Given the description of an element on the screen output the (x, y) to click on. 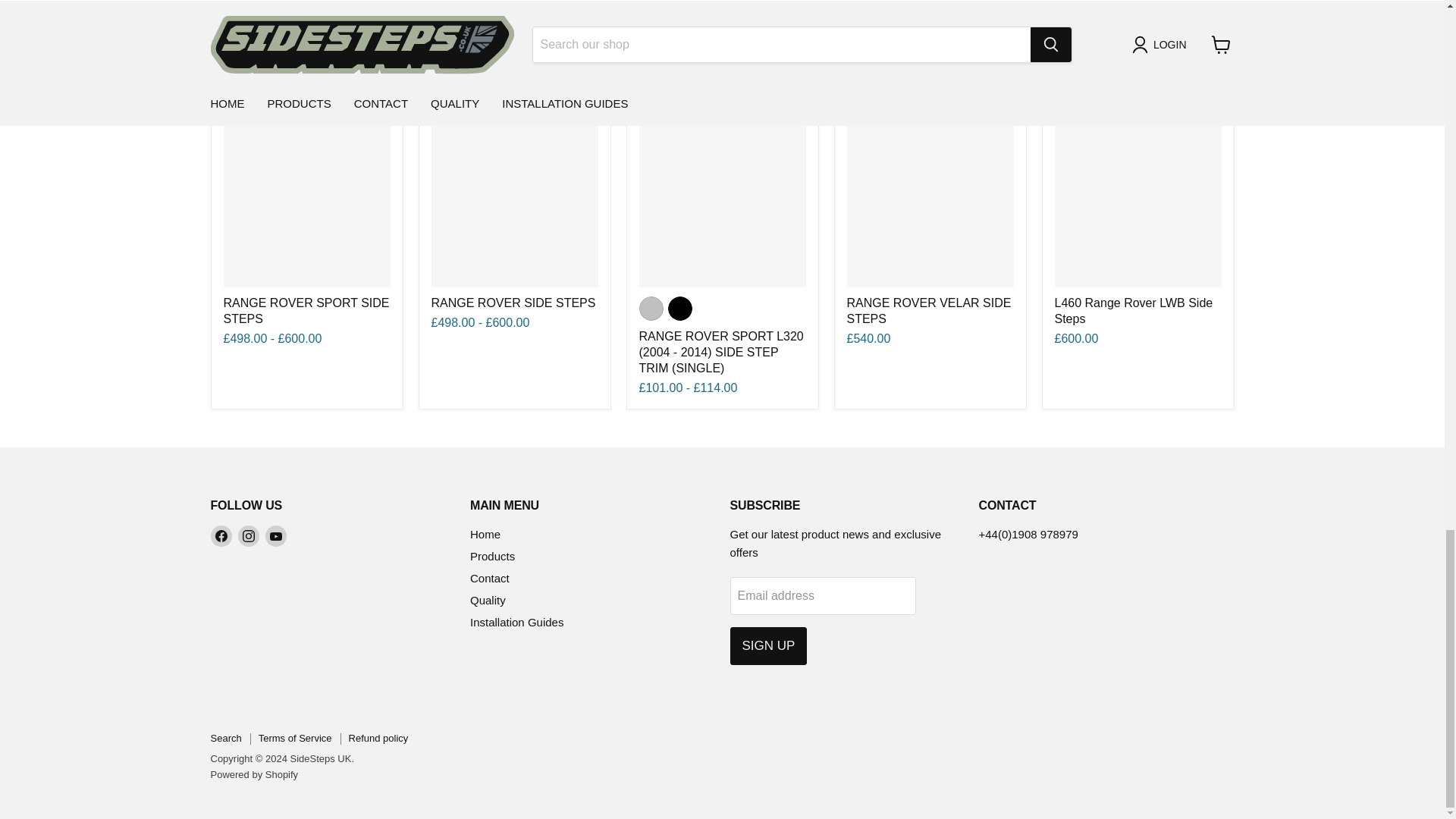
YouTube (275, 536)
Facebook (221, 536)
Instagram (248, 536)
